Given the description of an element on the screen output the (x, y) to click on. 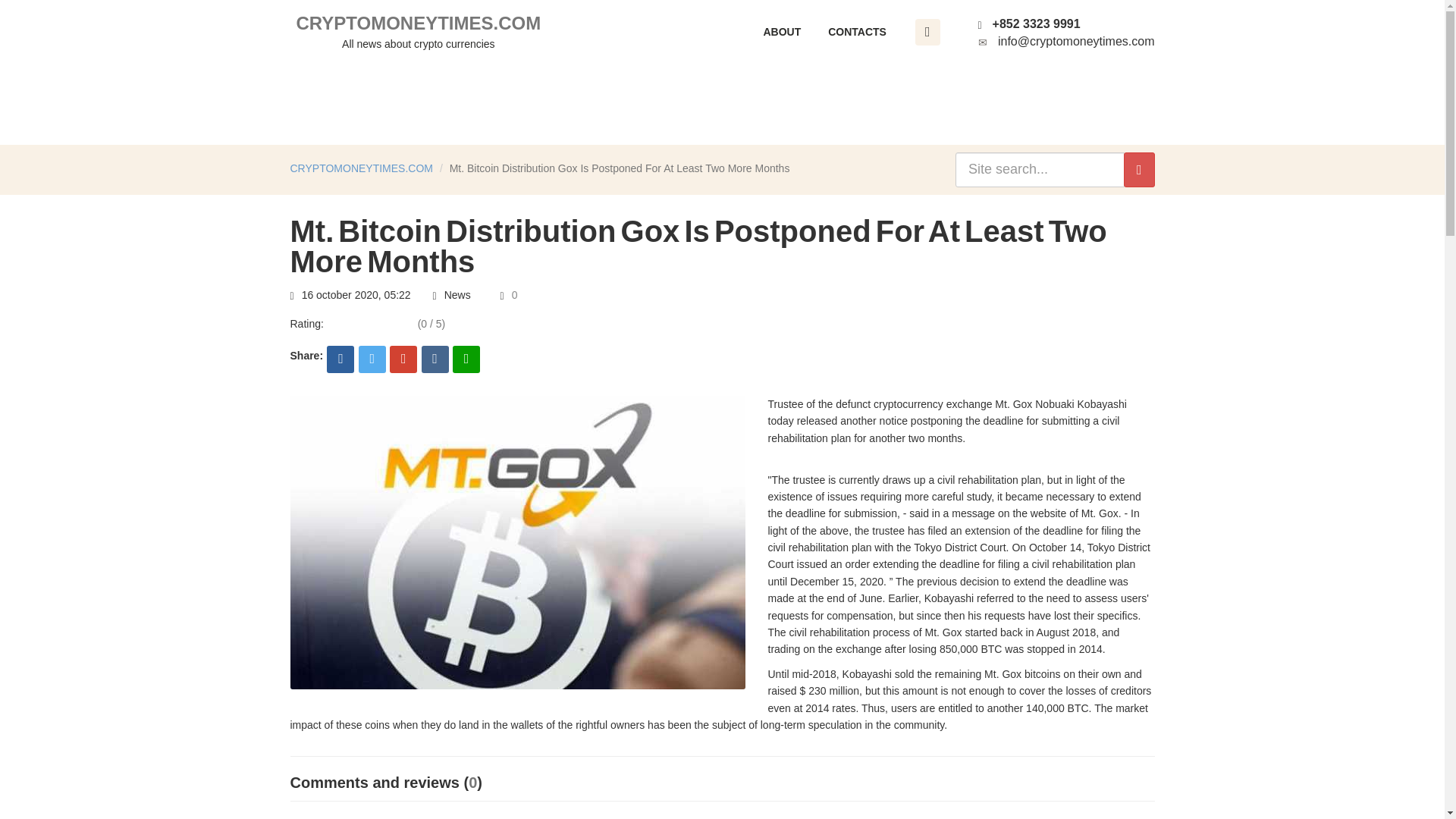
ABOUT (781, 31)
CRYPTOMONEYTIMES.COM (419, 32)
CONTACTS (360, 168)
0 (856, 31)
